Given the description of an element on the screen output the (x, y) to click on. 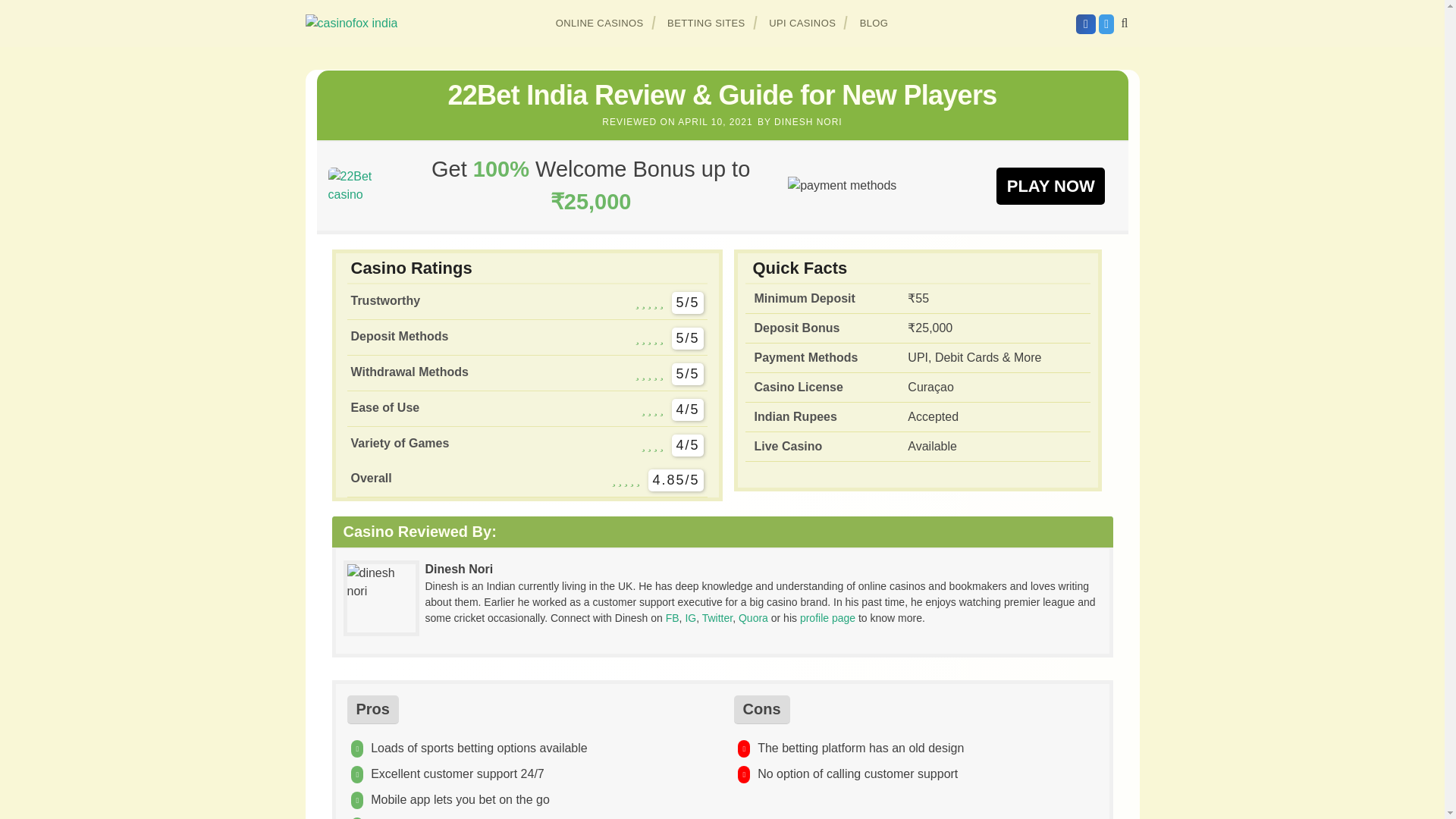
FB (672, 617)
IG (689, 617)
BLOG (874, 23)
UPI CASINOS (801, 23)
22Bet (1050, 185)
ONLINE CASINOS (599, 23)
Twitter (716, 617)
PLAY NOW (1050, 185)
BETTING SITES (706, 23)
profile page (827, 617)
Quora (753, 617)
22Bet (360, 185)
